Given the description of an element on the screen output the (x, y) to click on. 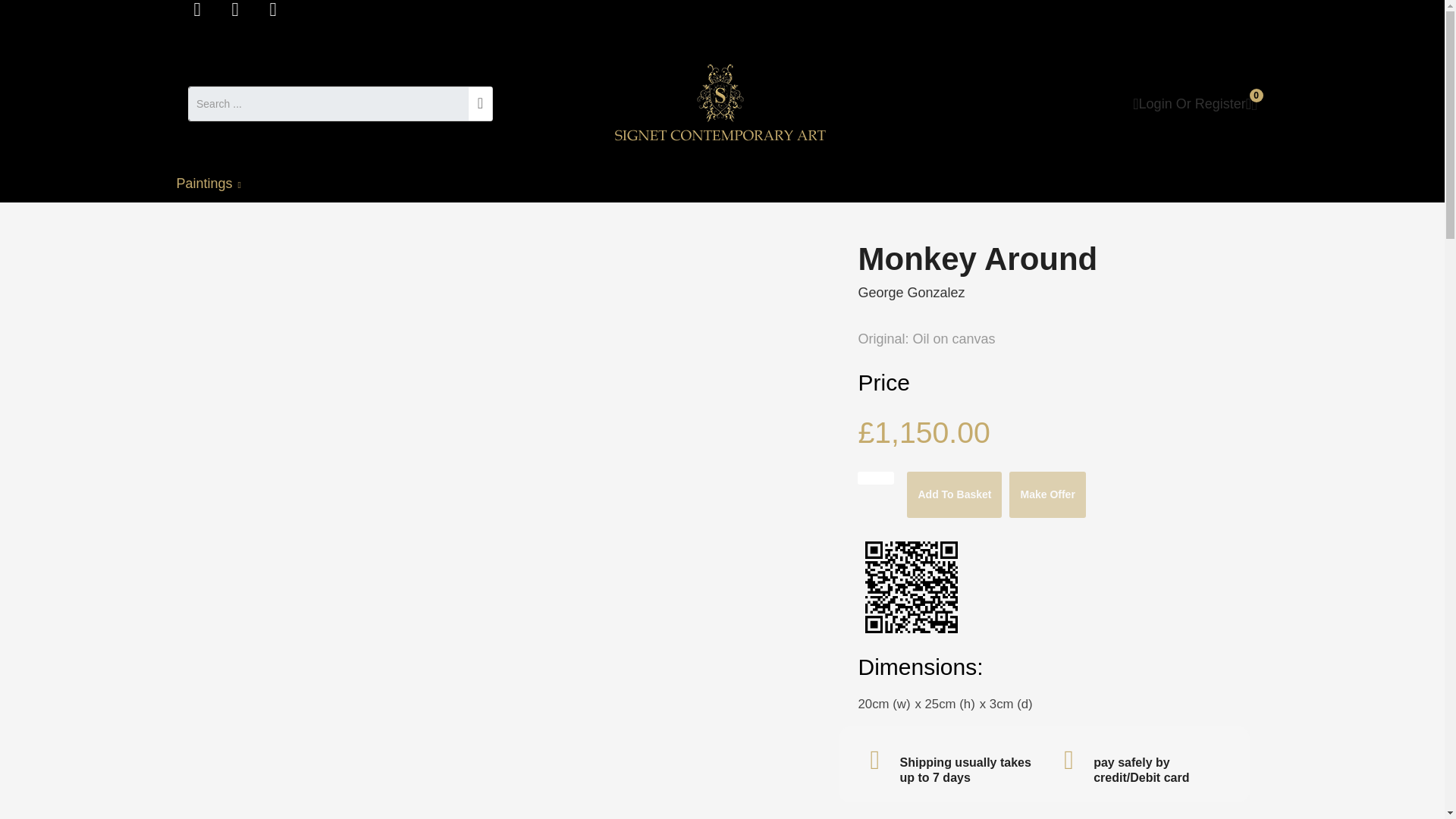
Login Or Register (1188, 103)
Artists (472, 183)
Auctions (391, 183)
Paintings (216, 183)
Sculptures (303, 183)
1 (875, 477)
